Given the description of an element on the screen output the (x, y) to click on. 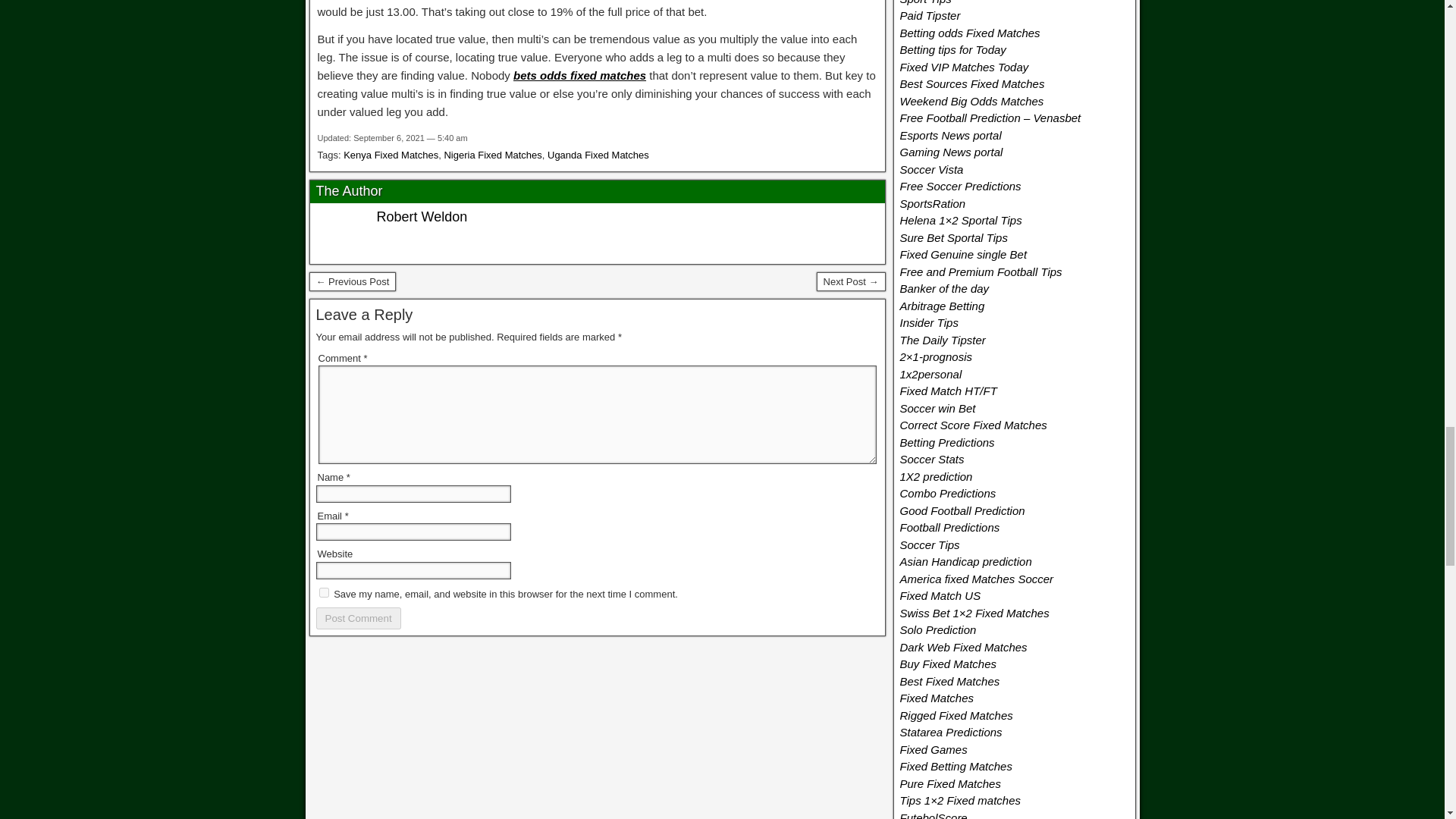
Post Comment (357, 618)
Uganda Fixed Matches (598, 154)
Sure Accurate Fixed Bets (850, 281)
bets odds fixed matches (579, 74)
Kenya Fixed Matches (390, 154)
yes (323, 592)
Post Comment (357, 618)
Nigeria Fixed Matches (492, 154)
Solopredict Fixed Matches (352, 281)
Robert Weldon (421, 216)
